Given the description of an element on the screen output the (x, y) to click on. 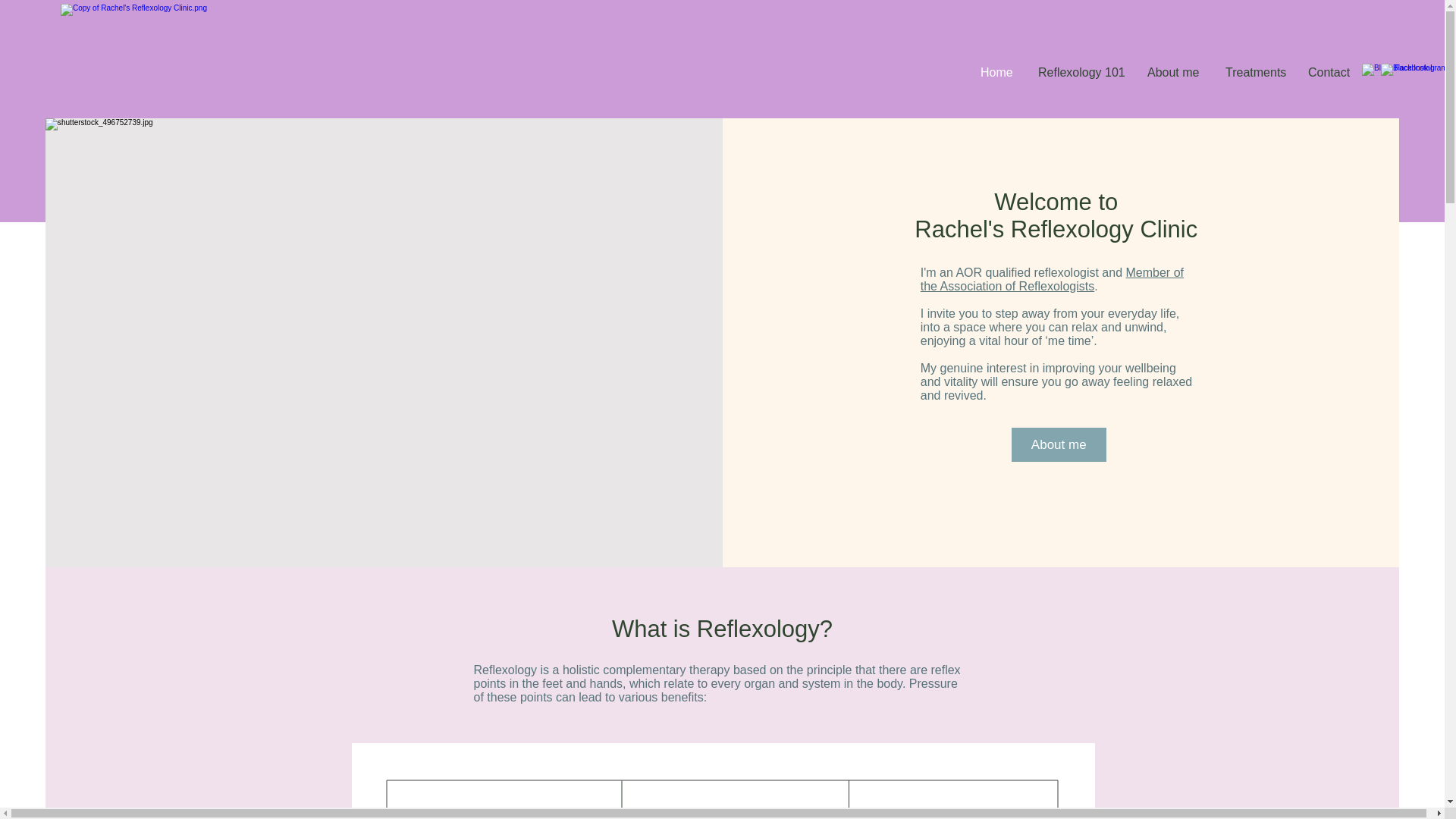
Contact (1329, 72)
Treatments (1255, 72)
About me (1174, 72)
Member of the Association of Reflexologists (1051, 279)
About me (1058, 444)
Home (997, 72)
